Given the description of an element on the screen output the (x, y) to click on. 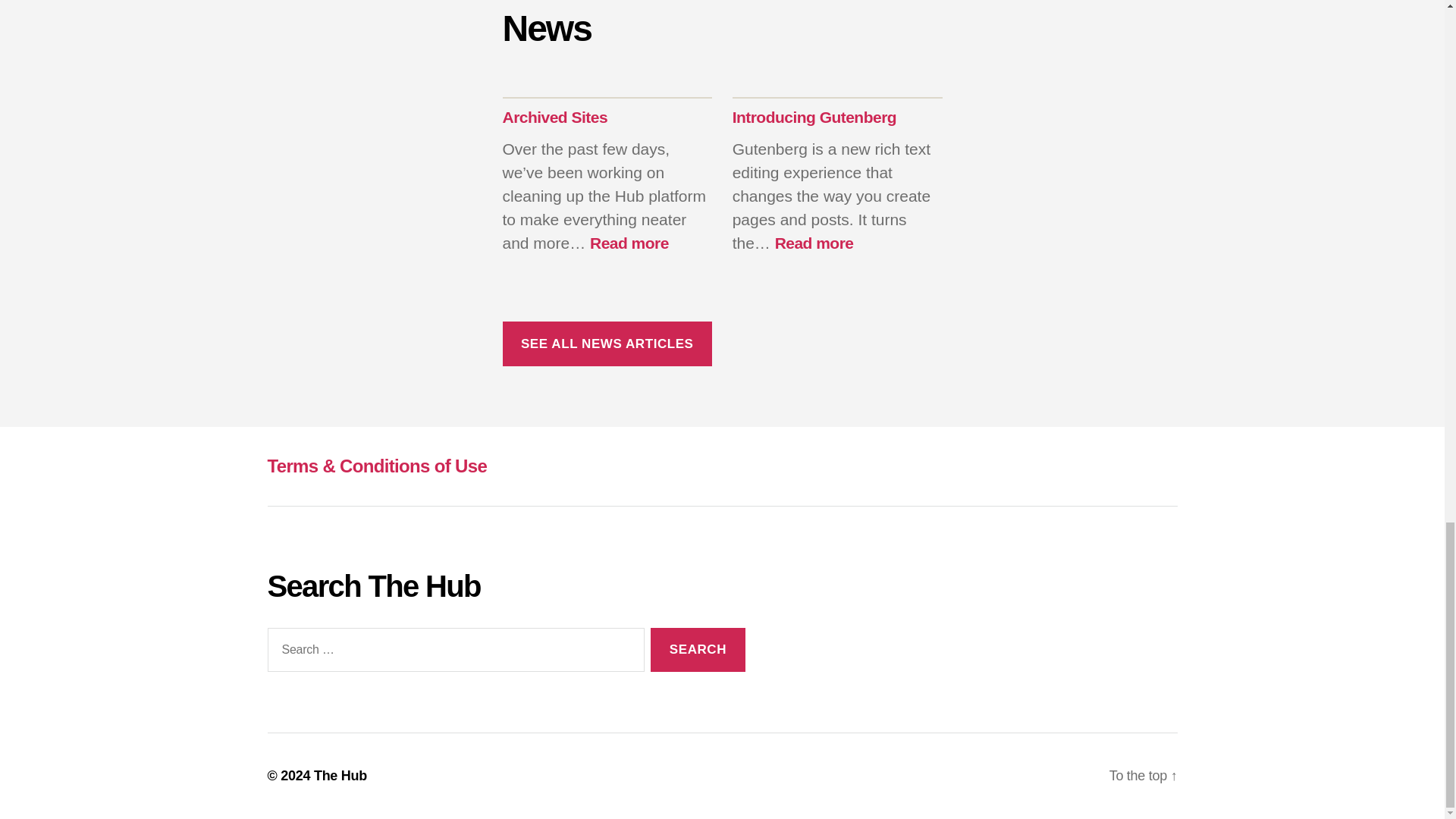
Search (697, 650)
Search (697, 650)
Archived Sites (628, 242)
Introducing Gutenberg (813, 242)
Search (554, 117)
SEE ALL NEWS ARTICLES (814, 117)
The Hub (697, 650)
